Given the description of an element on the screen output the (x, y) to click on. 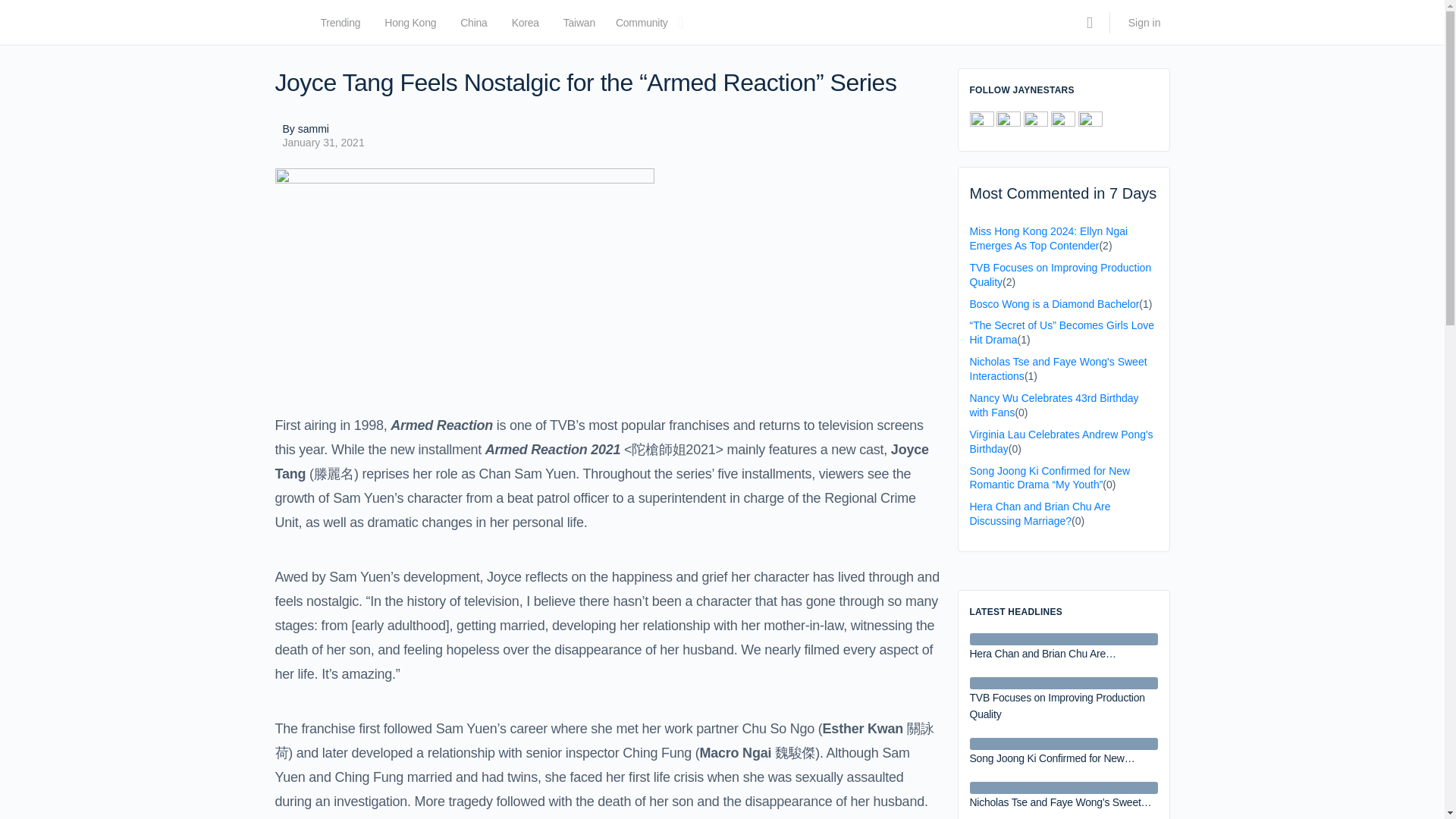
Facebook (980, 122)
January 31, 2021 (323, 142)
Youtube (1063, 122)
Twitter (1007, 122)
Sign in (1144, 22)
Instagram (1090, 122)
Pinterest (1035, 122)
Community (641, 25)
Hong Kong (409, 25)
By sammi (323, 128)
